Given the description of an element on the screen output the (x, y) to click on. 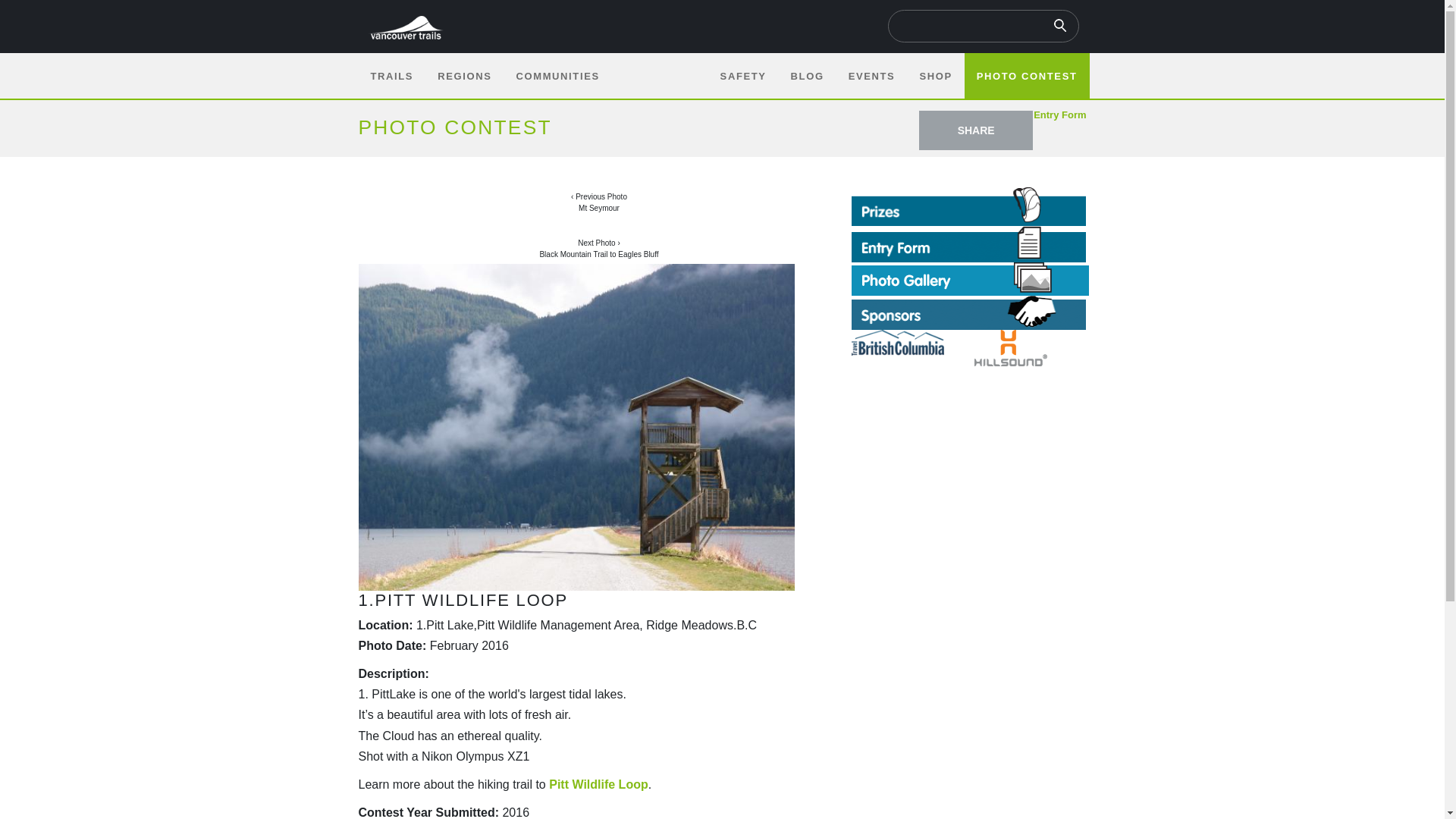
SHARE (975, 129)
Communities (557, 75)
SHOP (935, 75)
Photo Contest (1026, 75)
Regions (464, 75)
Shop (935, 75)
Events (871, 75)
Mt Seymour (598, 202)
Trails (391, 75)
Blog (806, 75)
